Given the description of an element on the screen output the (x, y) to click on. 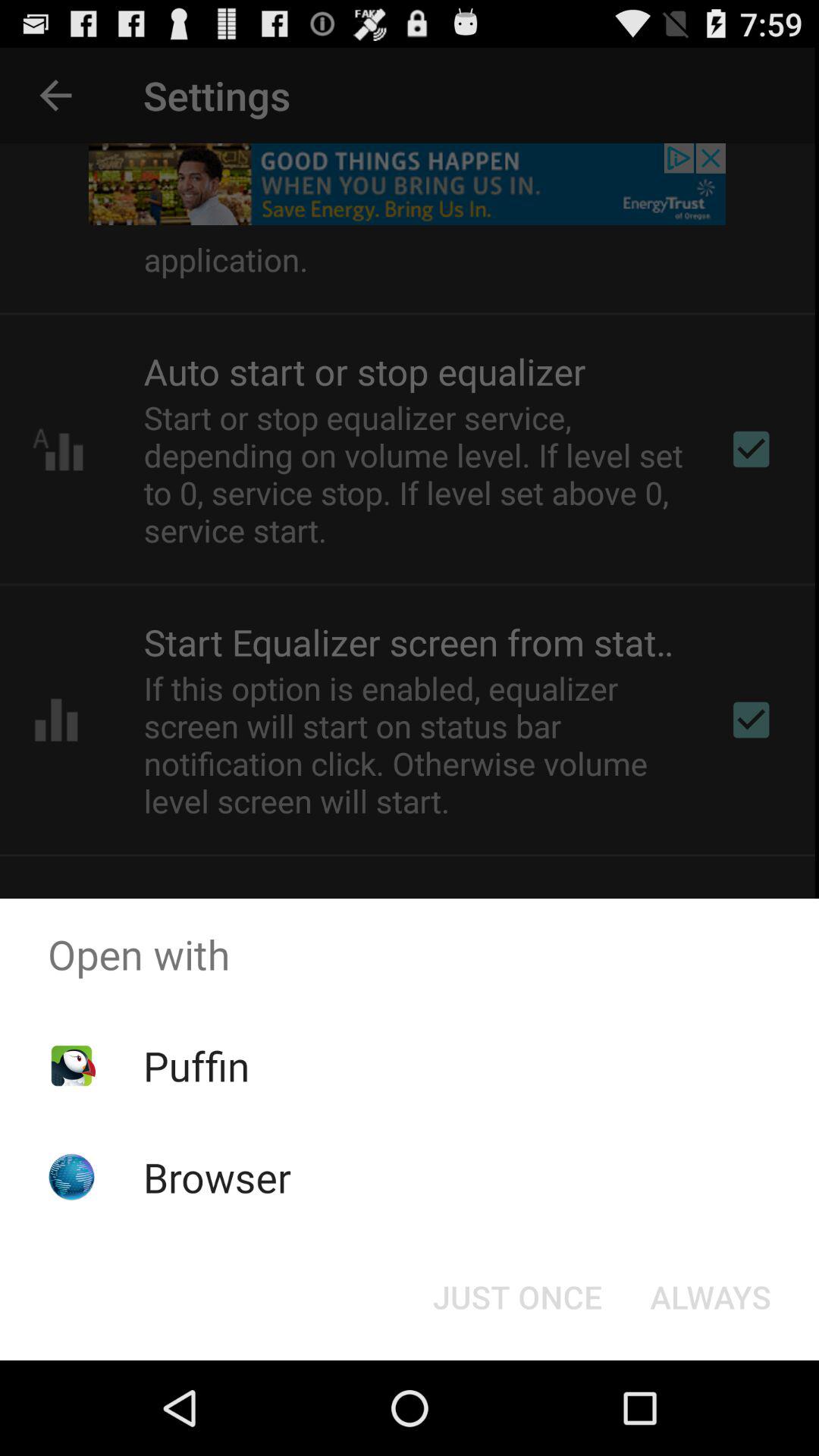
click app below the open with item (196, 1065)
